Given the description of an element on the screen output the (x, y) to click on. 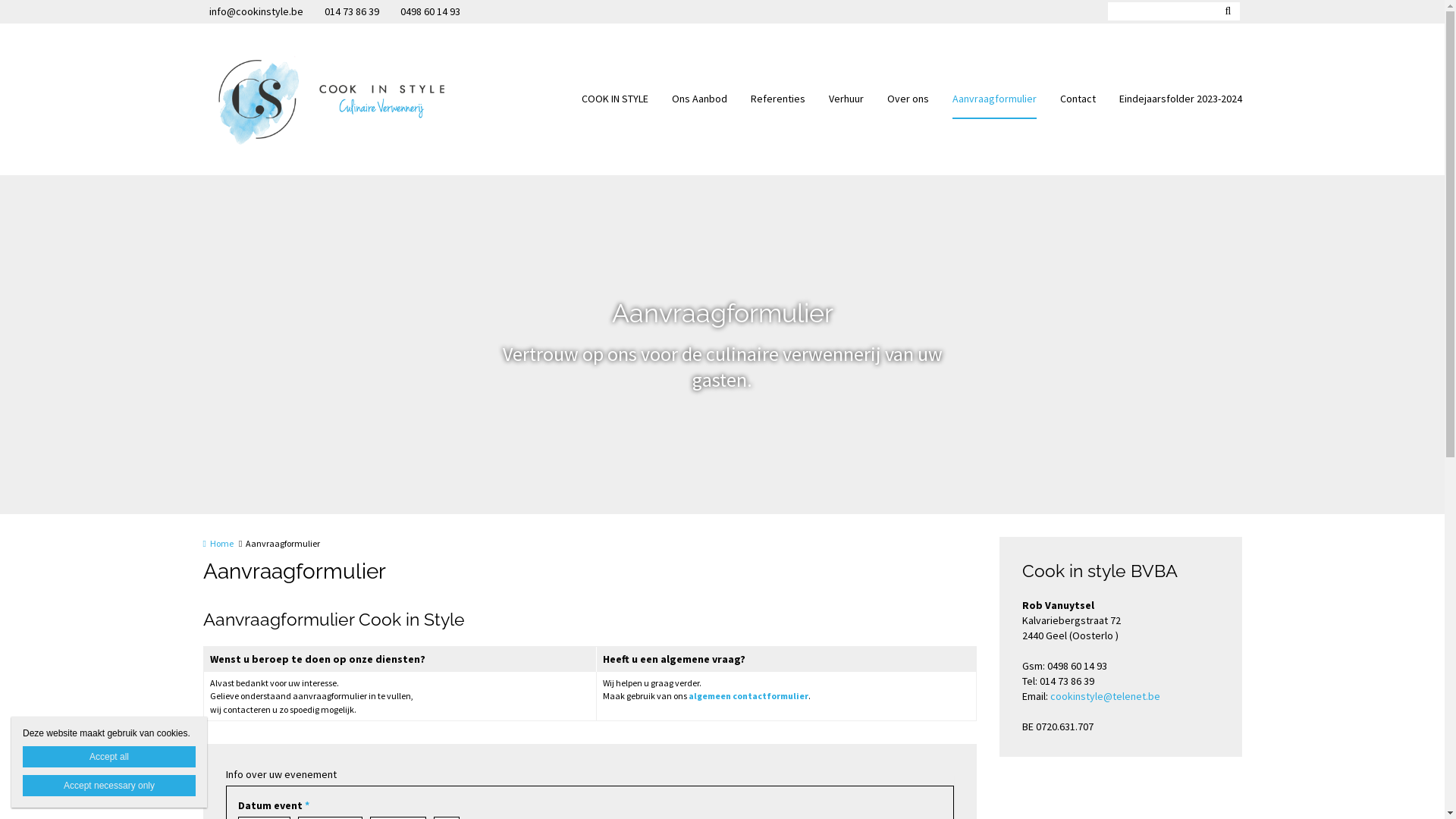
Accept all Element type: text (108, 756)
COOK IN STYLE Element type: text (613, 99)
0498 60 14 93 Element type: text (426, 11)
Ons Aanbod Element type: text (699, 99)
Aanvraagformulier Element type: text (994, 99)
014 73 86 39 Element type: text (348, 11)
Eindejaarsfolder 2023-2024 Element type: text (1180, 99)
info@cookinstyle.be Element type: text (256, 11)
Over ons Element type: text (907, 99)
Referenties Element type: text (777, 99)
Home | COOK IN STYLE Element type: hover (330, 99)
Home | COOK IN STYLE Element type: hover (353, 98)
Verhuur Element type: text (845, 99)
cookinstyle@telenet.be Element type: text (1104, 695)
Overslaan en naar de inhoud gaan Element type: text (81, 0)
algemeen contactformulier Element type: text (748, 695)
Contact Element type: text (1077, 99)
Zoeken Element type: text (1227, 11)
Accept necessary only Element type: text (108, 785)
Home Element type: text (218, 543)
